Given the description of an element on the screen output the (x, y) to click on. 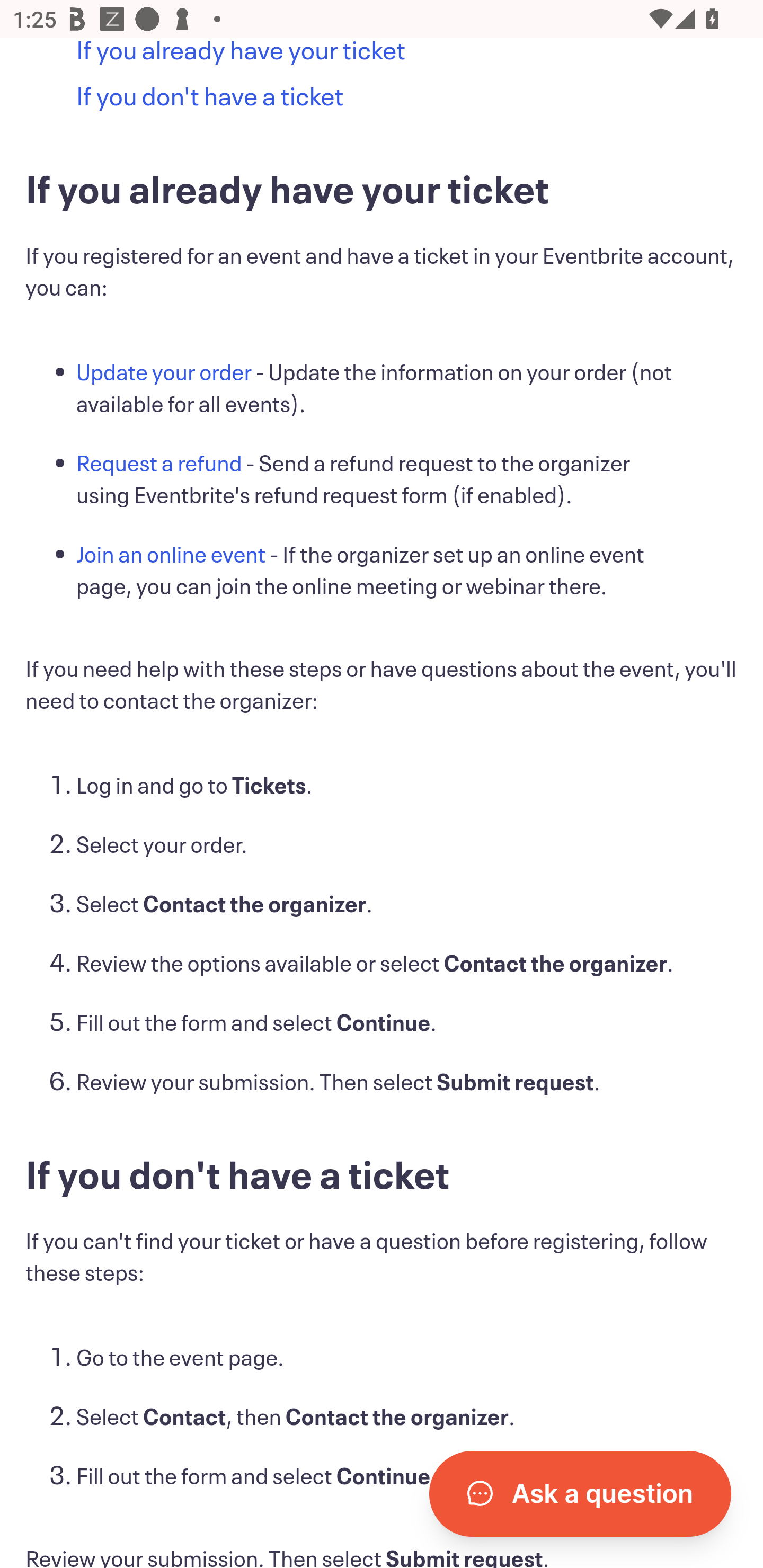
Update your order (164, 372)
Request a refund (159, 464)
Join an online event (171, 555)
Open Chatbot (579, 1494)
